Given the description of an element on the screen output the (x, y) to click on. 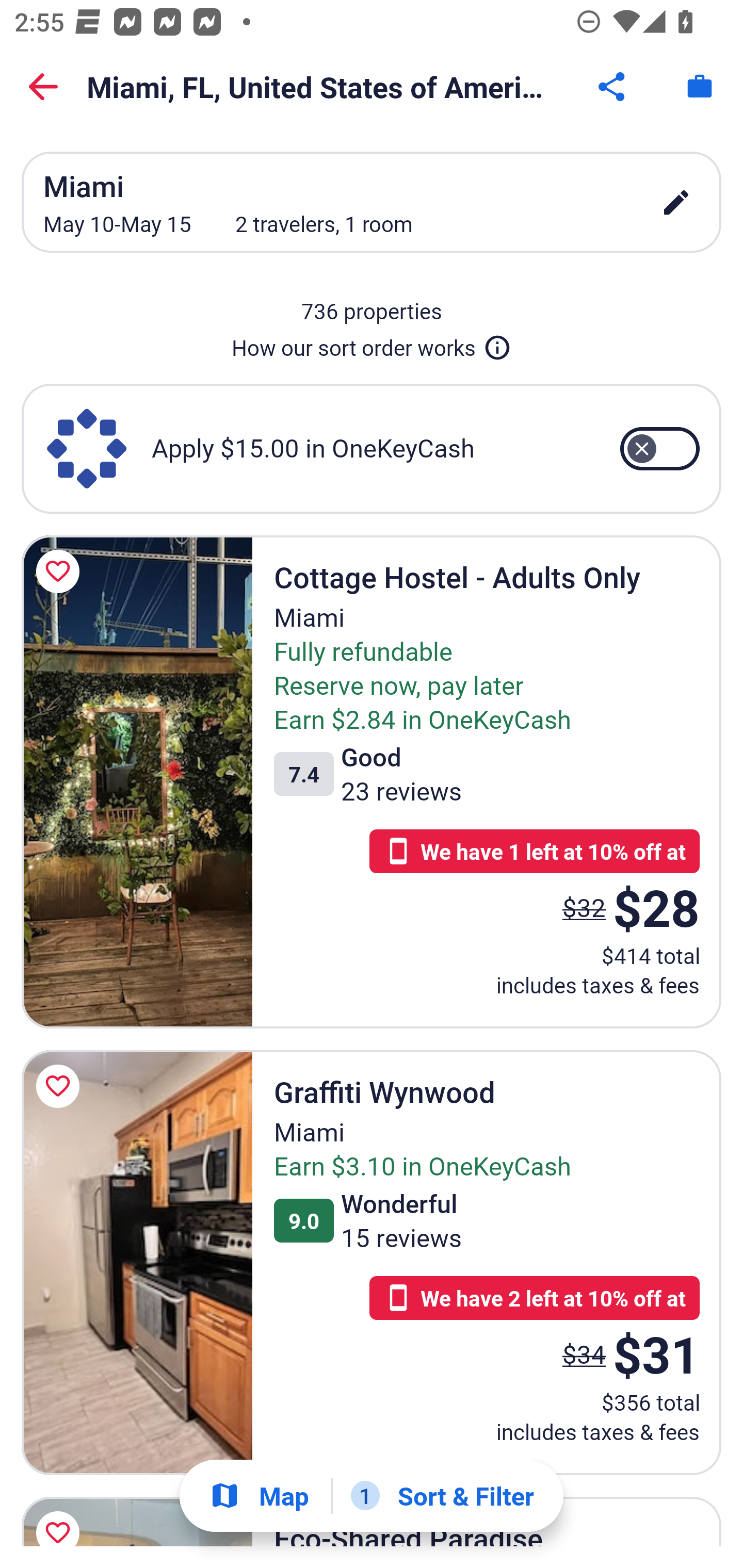
Back (43, 86)
Share Button (612, 86)
Trips. Button (699, 86)
Miami May 10-May 15 2 travelers, 1 room edit (371, 202)
How our sort order works (371, 344)
Save Cottage Hostel - Adults Only  to a trip (61, 571)
Cottage Hostel - Adults Only  (136, 781)
$32 The price was $32 (583, 906)
Save Graffiti Wynwood  to a trip (61, 1085)
Graffiti Wynwood  (136, 1262)
$34 The price was $34 (583, 1353)
1 Sort & Filter 1 Filter applied. Filters Button (442, 1495)
Show map Map Show map Button (258, 1495)
Save Eco-Shared Paradise  to a trip (61, 1517)
